Given the description of an element on the screen output the (x, y) to click on. 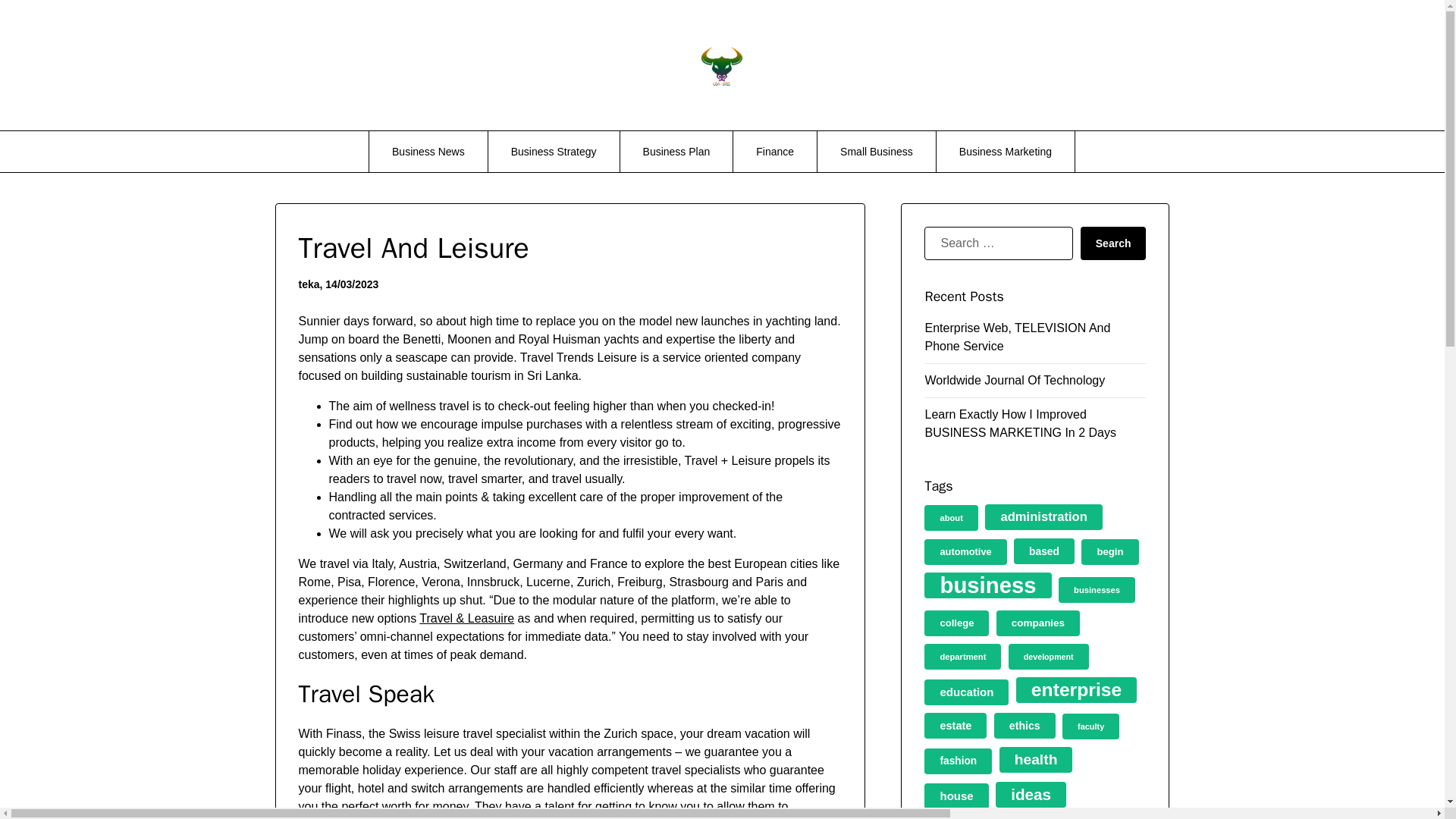
Search (1113, 243)
automotive (965, 551)
Search (1113, 243)
department (962, 656)
Learn Exactly How I Improved BUSINESS MARKETING In 2 Days (1020, 422)
about (950, 517)
Business Plan (676, 151)
businesses (1096, 589)
Worldwide Journal Of Technology (1014, 379)
enterprise (1076, 689)
